Given the description of an element on the screen output the (x, y) to click on. 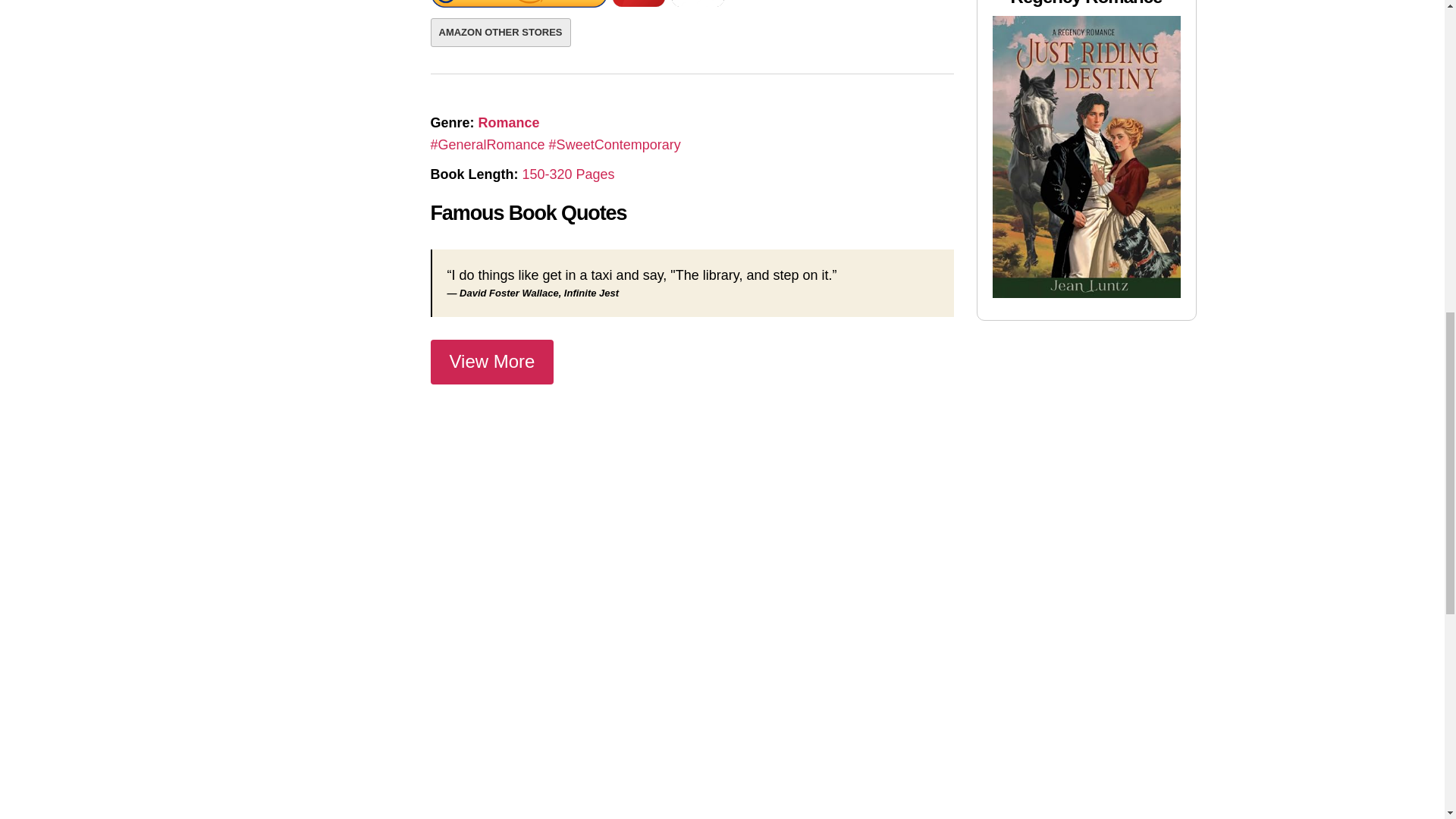
Kobo (638, 7)
Amazon (518, 6)
Google Play (697, 7)
